Given the description of an element on the screen output the (x, y) to click on. 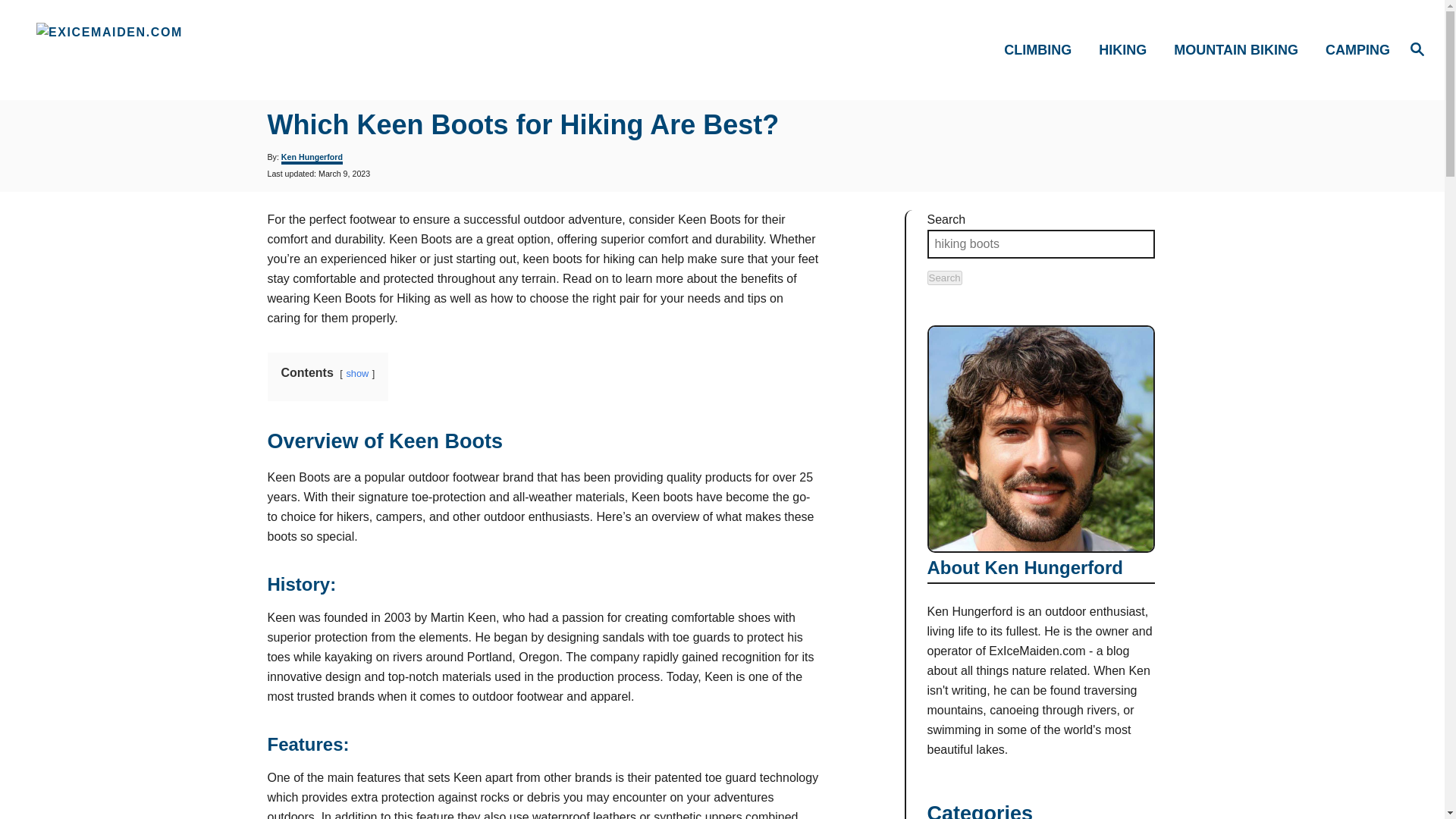
ExiceMaiden.com (204, 49)
Ken Hungerford (311, 158)
show (357, 373)
CLIMBING (1041, 49)
Magnifying Glass (1416, 48)
CAMPING (1353, 49)
HIKING (1126, 49)
Search (943, 278)
MOUNTAIN BIKING (1240, 49)
